Given the description of an element on the screen output the (x, y) to click on. 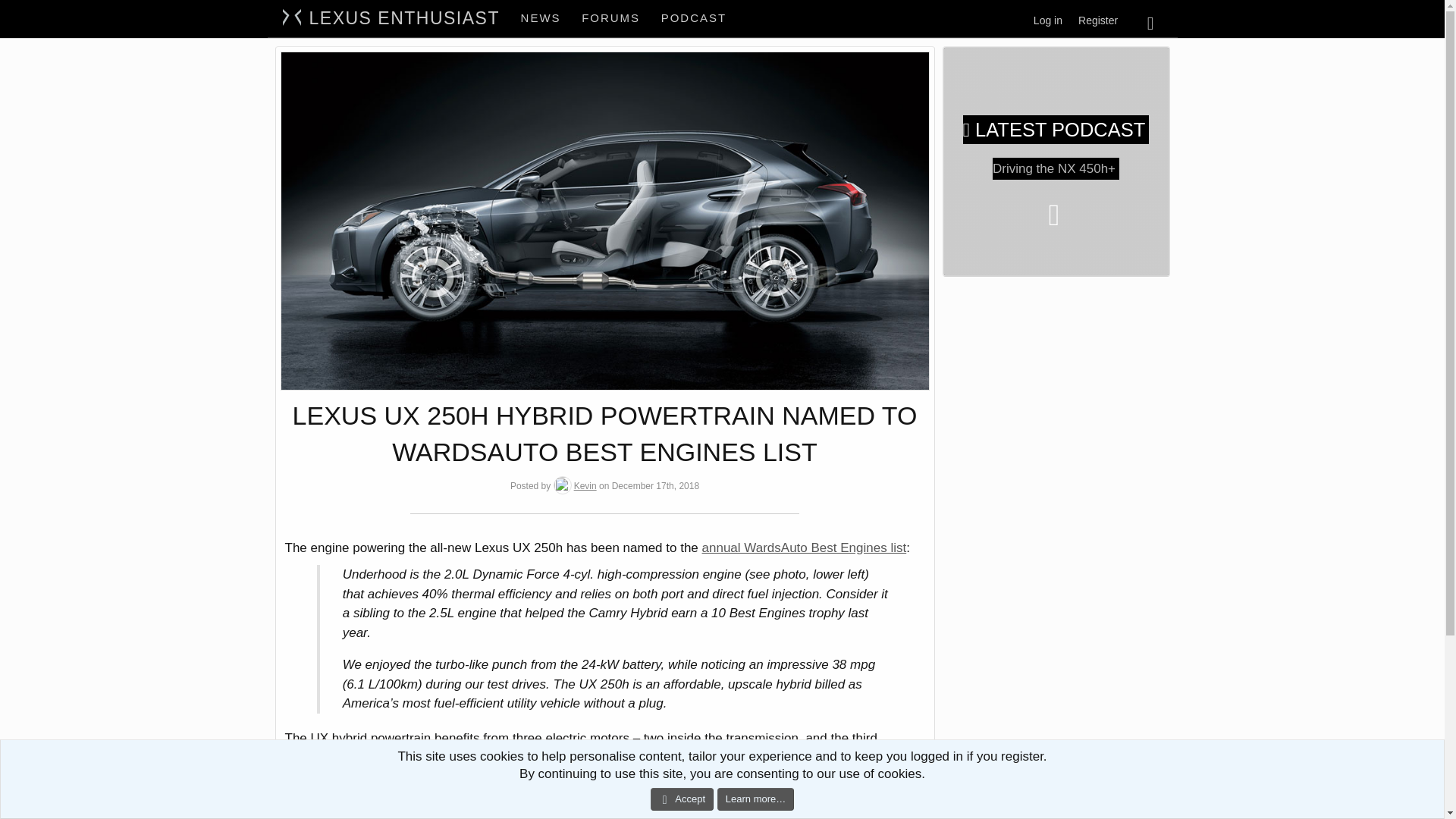
Log in (623, 18)
NEWS (1048, 20)
Kevin (541, 18)
LATEST PODCAST (584, 485)
Register (1056, 129)
PODCAST (623, 18)
FORUMS (1097, 20)
annual WardsAuto Best Engines list (694, 18)
